Given the description of an element on the screen output the (x, y) to click on. 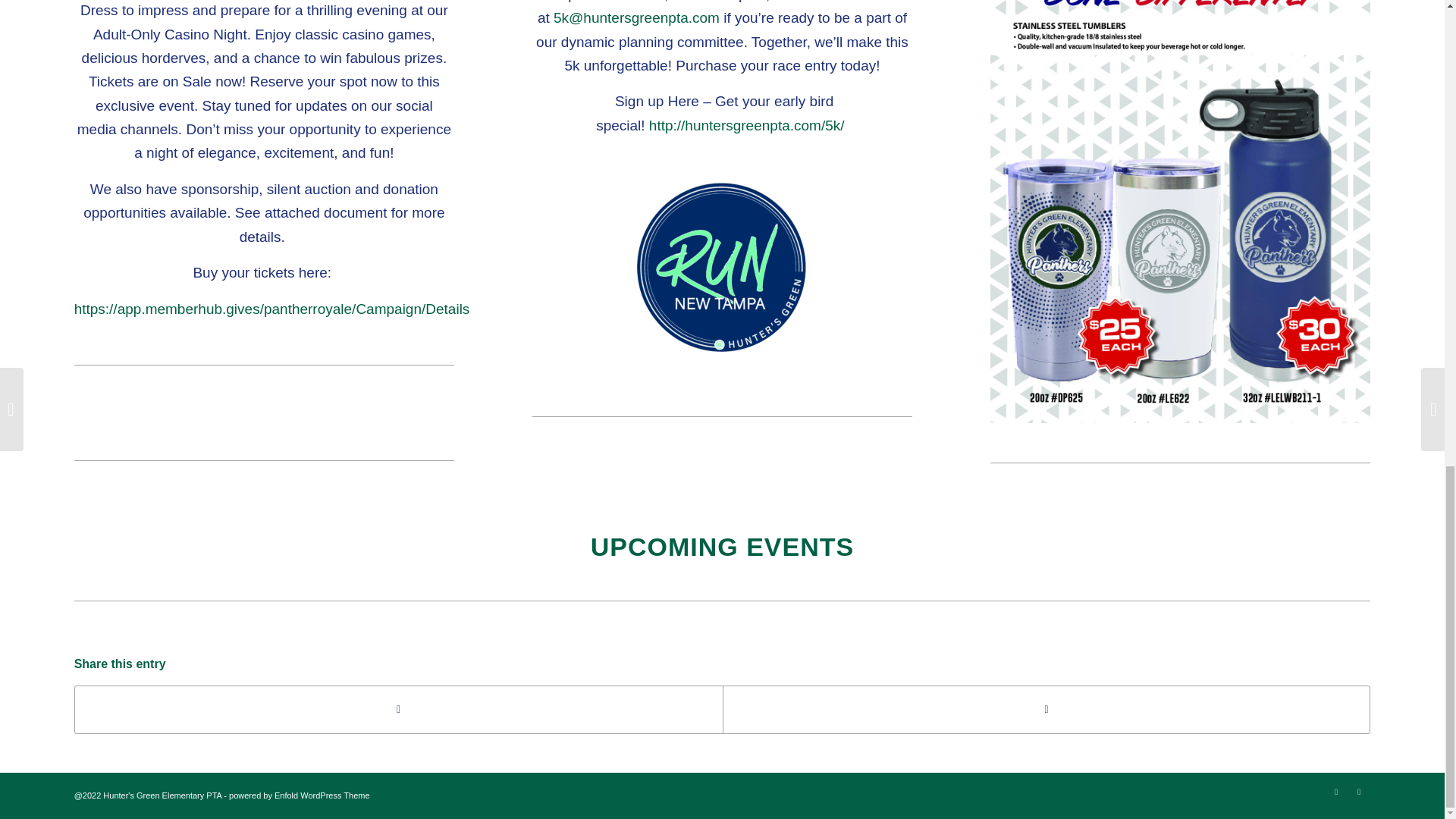
powered by Enfold WordPress Theme (298, 795)
Facebook (1336, 791)
